Given the description of an element on the screen output the (x, y) to click on. 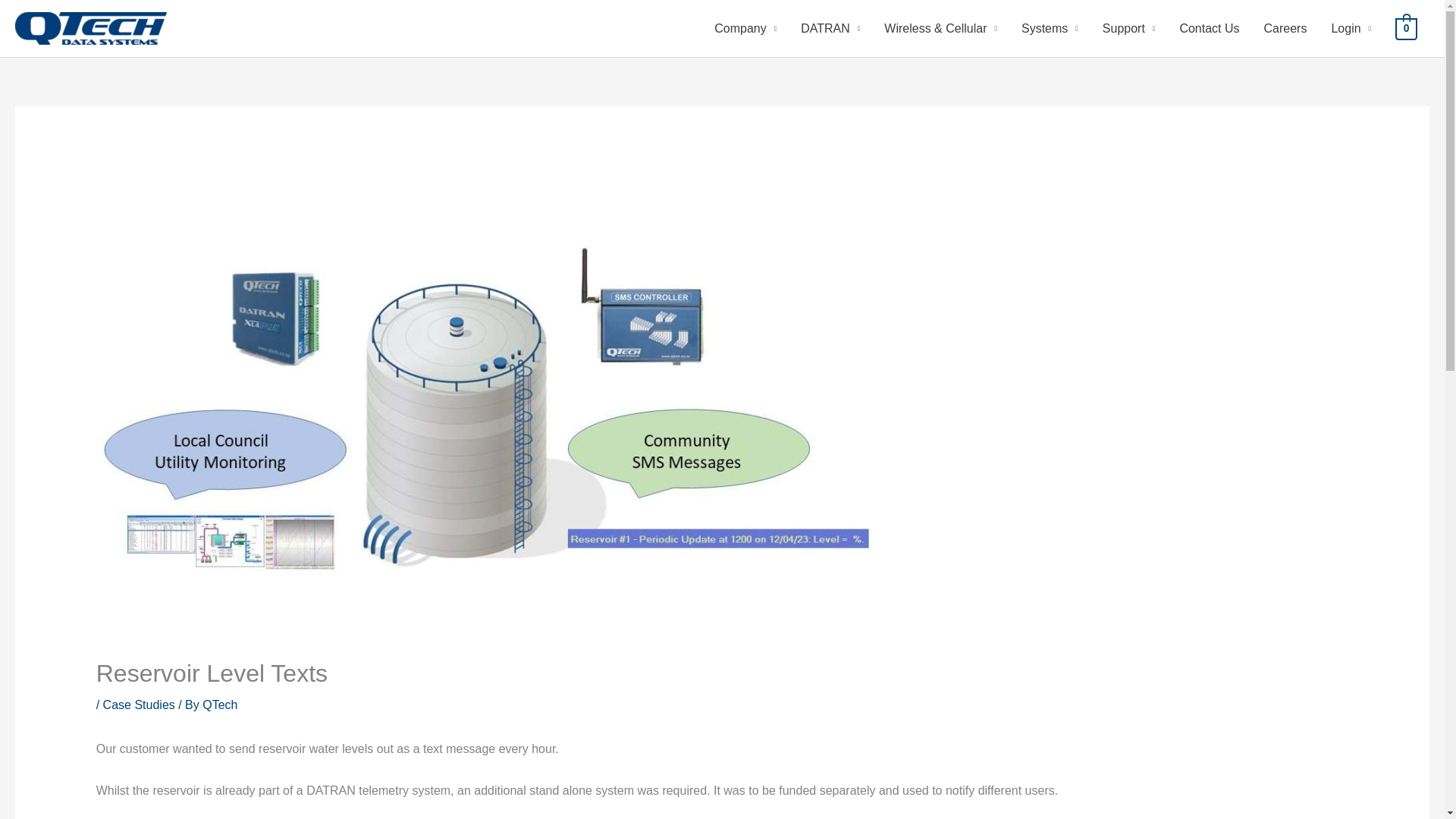
Company (745, 28)
Careers (1285, 28)
View all posts by QTech (219, 704)
Contact Us (1208, 28)
Login (1351, 28)
Support (1128, 28)
Systems (1049, 28)
DATRAN (830, 28)
